Given the description of an element on the screen output the (x, y) to click on. 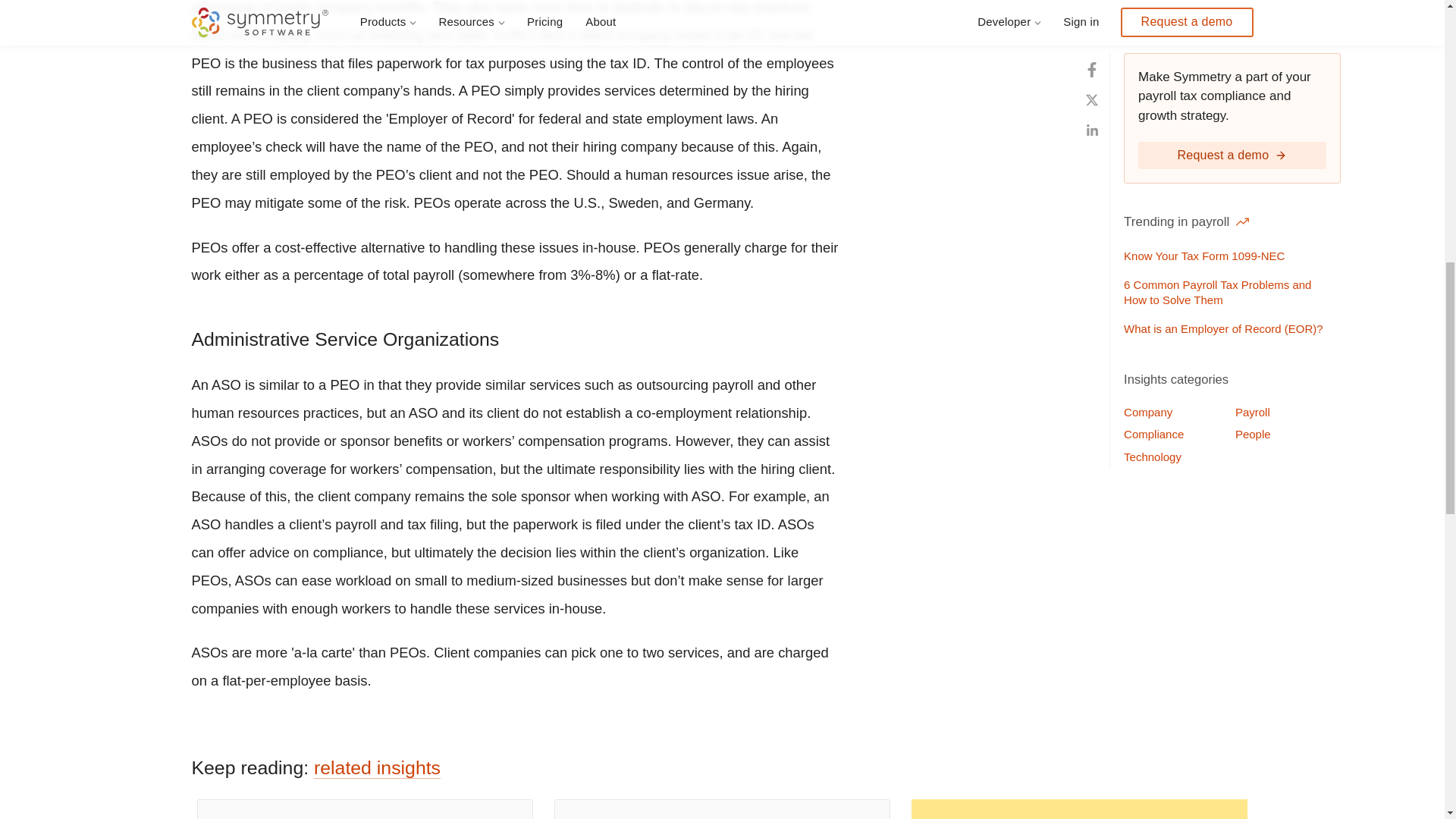
Company (1173, 7)
related insights (377, 767)
Compliance (1173, 25)
Payroll (1284, 7)
People (1284, 25)
Technology (1173, 47)
